Given the description of an element on the screen output the (x, y) to click on. 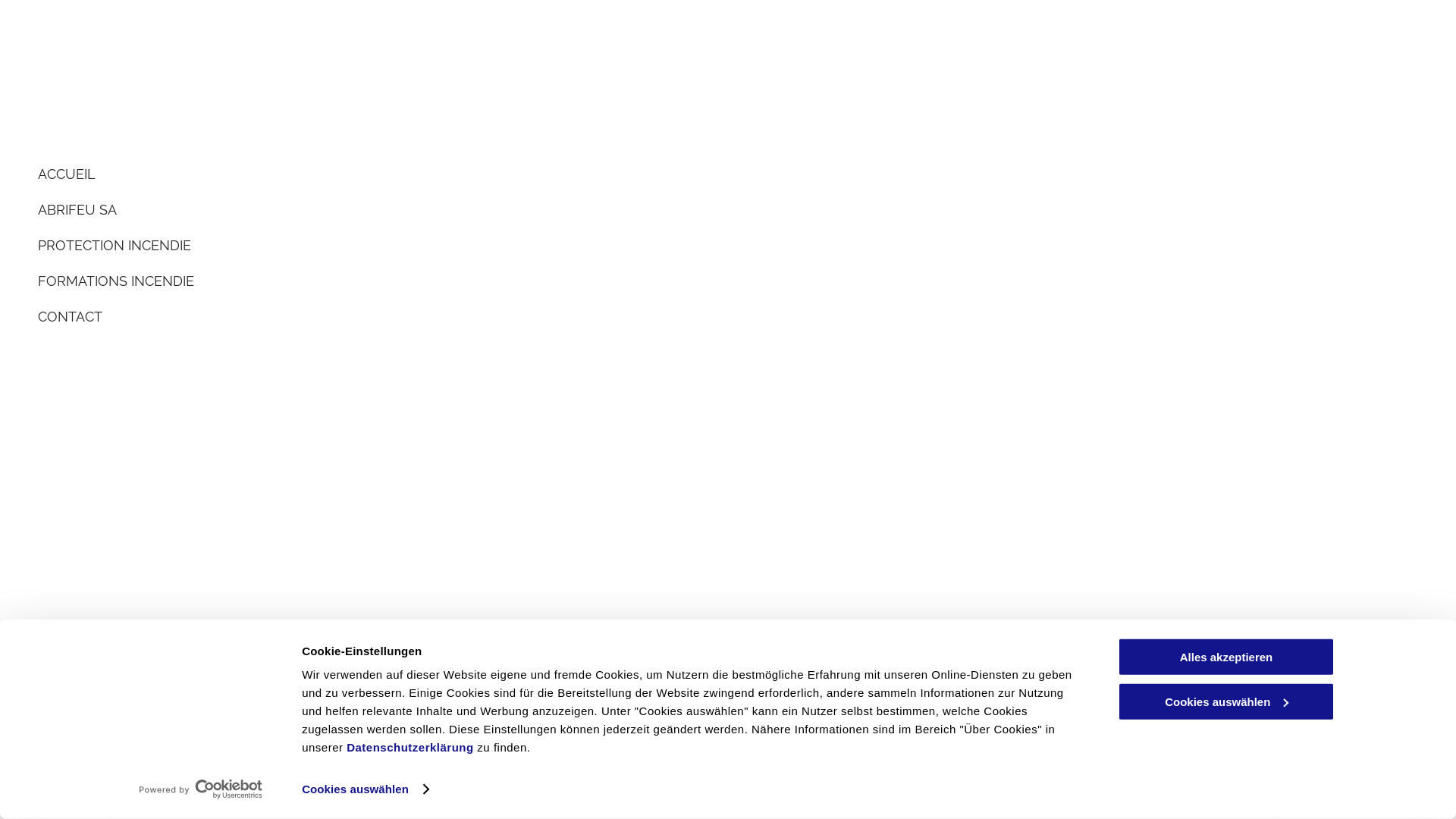
Alles akzeptieren Element type: text (1225, 656)
CONTACT Element type: text (284, 316)
FORMATIONS INCENDIE Element type: text (284, 280)
ACCUEIL Element type: text (284, 173)
ABRIFEU SA Element type: text (284, 209)
PROTECTION INCENDIE Element type: text (284, 245)
